Given the description of an element on the screen output the (x, y) to click on. 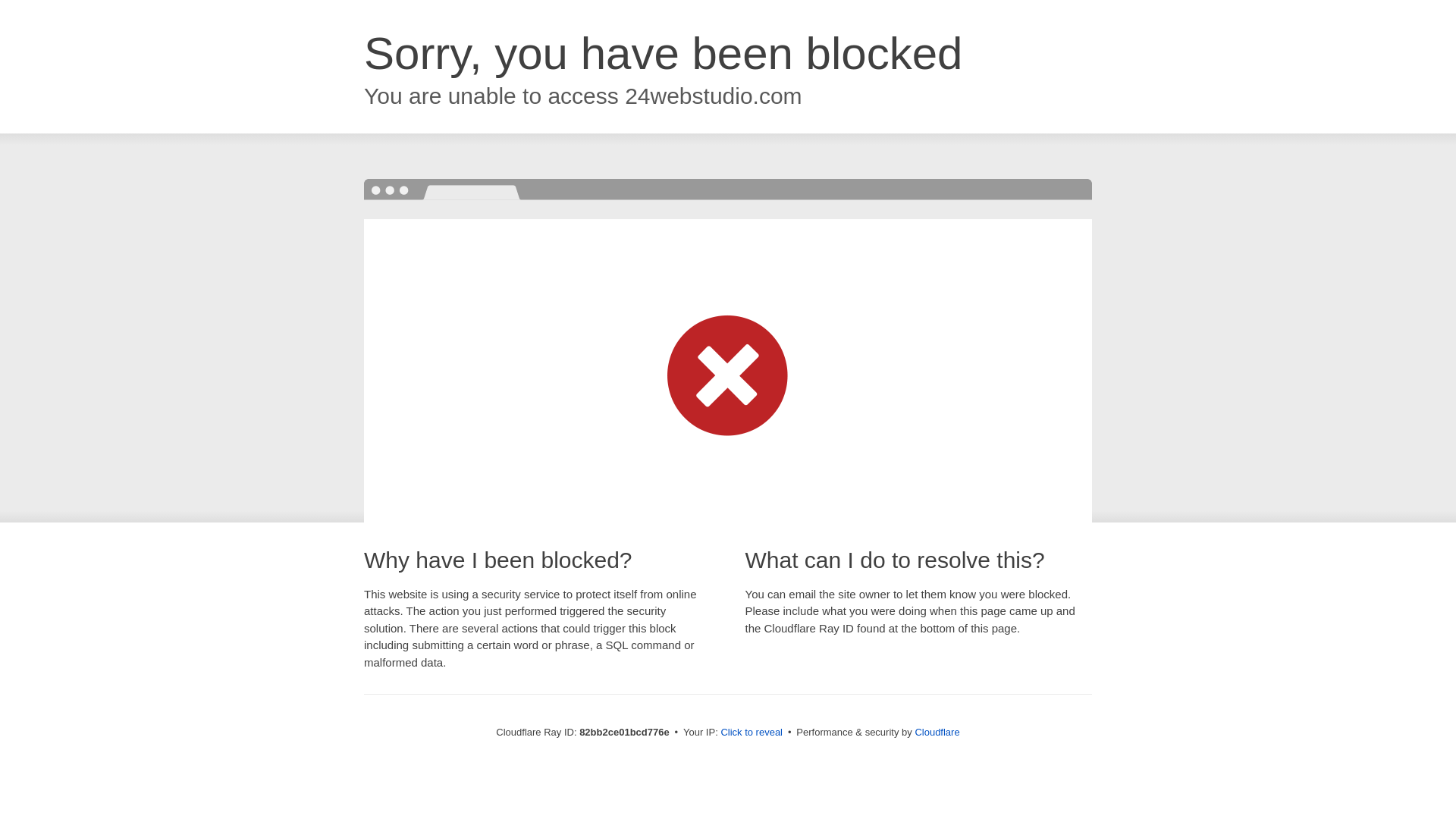
Click to reveal Element type: text (751, 732)
Cloudflare Element type: text (936, 731)
